Given the description of an element on the screen output the (x, y) to click on. 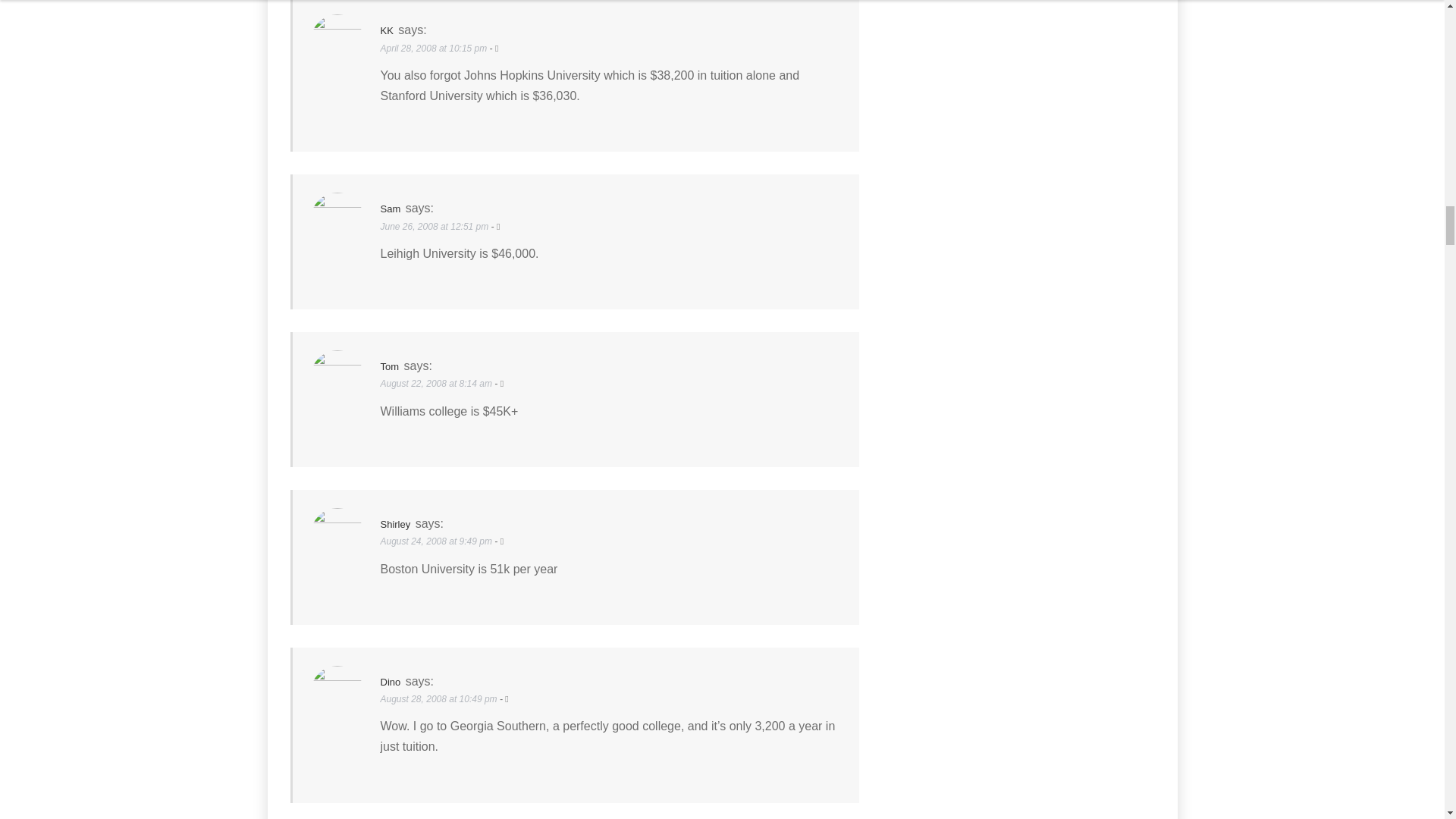
August 22, 2008 at 8:14 am (437, 383)
June 26, 2008 at 12:51 pm (436, 226)
April 28, 2008 at 10:15 pm (434, 48)
